Given the description of an element on the screen output the (x, y) to click on. 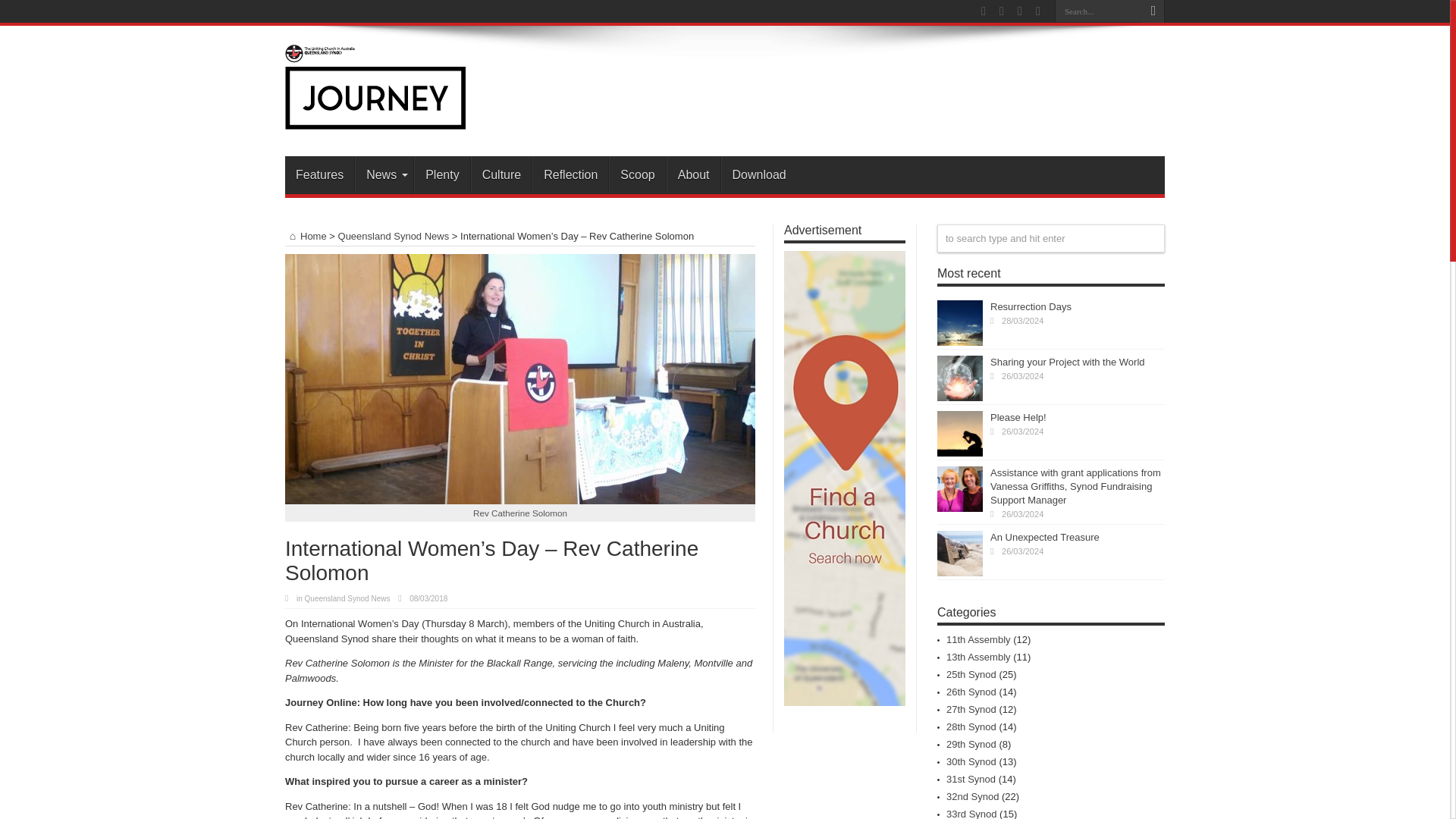
Home (305, 235)
Plenty (440, 175)
Download (758, 175)
Reflection (570, 175)
About (693, 175)
Culture (501, 175)
Queensland Synod News (393, 235)
Scoop (636, 175)
JourneyOnline (375, 117)
Search (1152, 11)
Queensland Synod News (347, 598)
Features (319, 175)
to search type and hit enter (1050, 238)
News (384, 175)
Search... (1097, 11)
